Given the description of an element on the screen output the (x, y) to click on. 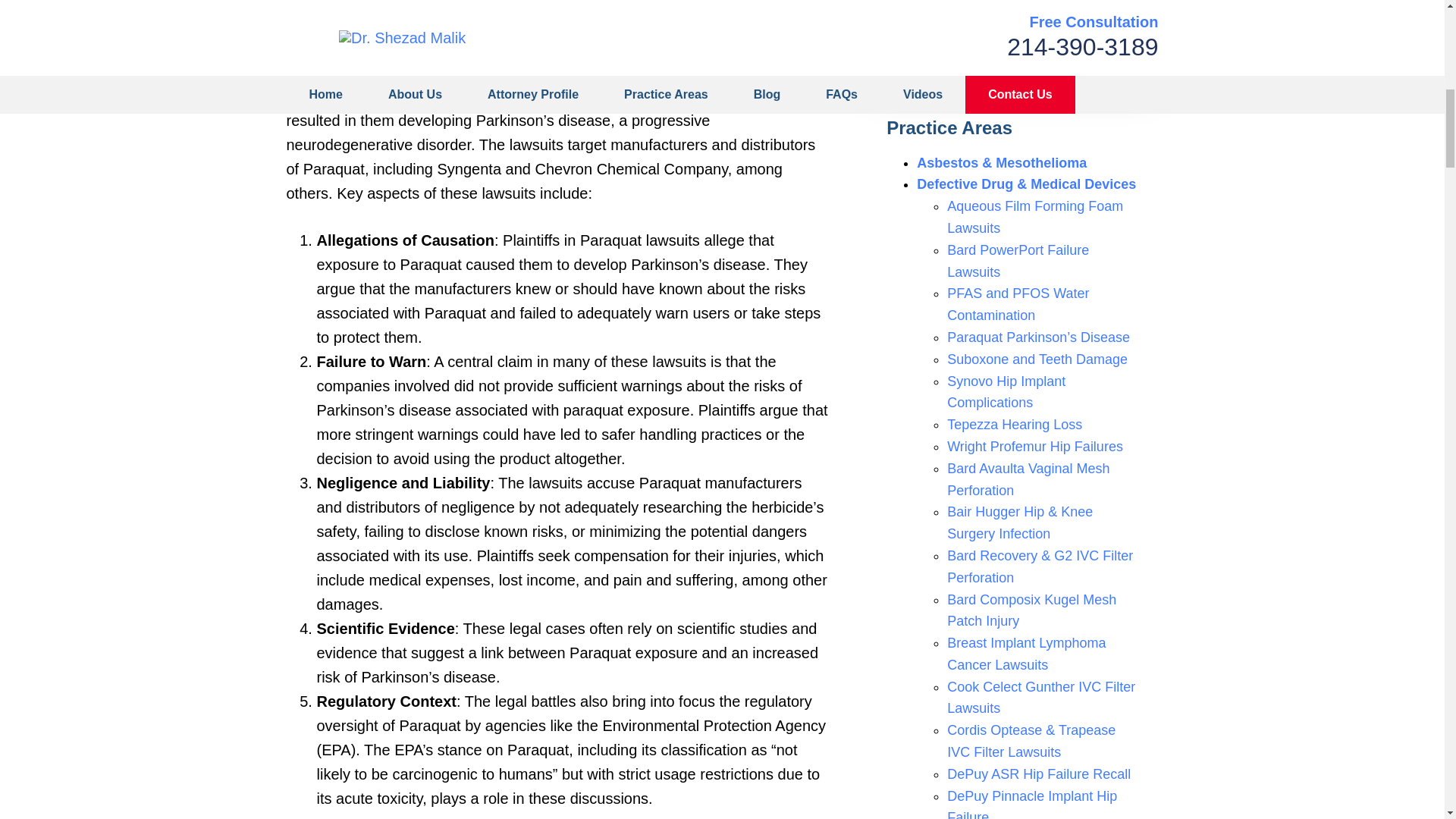
Aqueous Film Forming Foam Lawsuits (1034, 217)
Tepezza Hearing Loss (1014, 424)
Synovo Hip Implant Complications (1006, 392)
Bard Composix Kugel Mesh Patch Injury (1031, 609)
Contact Us Now (1012, 52)
Suboxone and Teeth Damage (1036, 359)
Bard Avaulta Vaginal Mesh Perforation (1028, 479)
Bard PowerPort Failure Lawsuits (1018, 261)
Wright Profemur Hip Failures (1034, 446)
PFAS and PFOS Water Contamination (1018, 303)
